Given the description of an element on the screen output the (x, y) to click on. 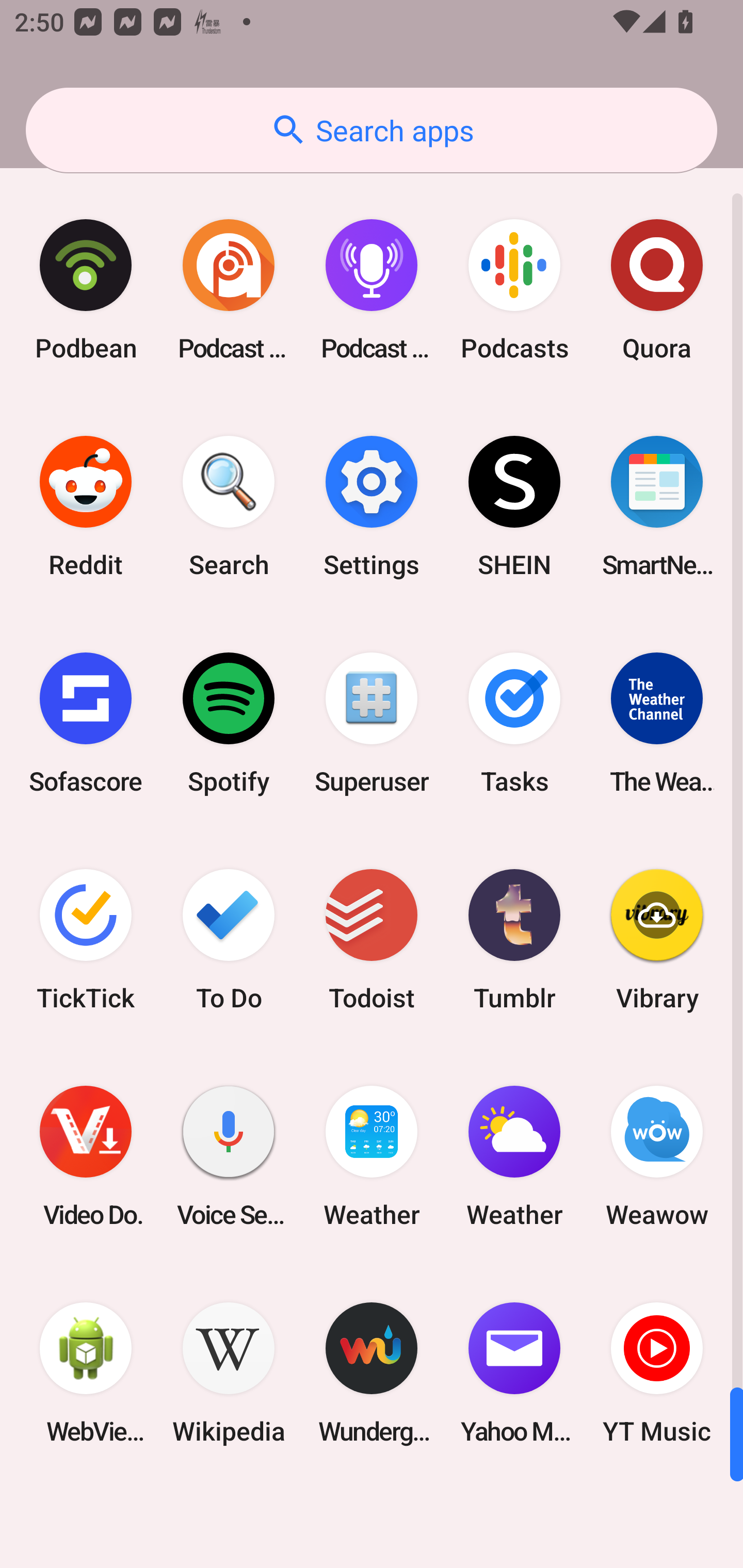
  Search apps (371, 130)
Podbean (85, 289)
Podcast Addict (228, 289)
Podcast Player (371, 289)
Podcasts (514, 289)
Quora (656, 289)
Reddit (85, 506)
Search (228, 506)
Settings (371, 506)
SHEIN (514, 506)
SmartNews (656, 506)
Sofascore (85, 722)
Spotify (228, 722)
Superuser (371, 722)
Tasks (514, 722)
The Weather Channel (656, 722)
TickTick (85, 939)
To Do (228, 939)
Todoist (371, 939)
Tumblr (514, 939)
Vibrary (656, 939)
Video Downloader & Ace Player (85, 1156)
Voice Search (228, 1156)
Weather (371, 1156)
Weather (514, 1156)
Weawow (656, 1156)
WebView Browser Tester (85, 1373)
Wikipedia (228, 1373)
Wunderground (371, 1373)
Yahoo Mail (514, 1373)
YT Music (656, 1373)
